Given the description of an element on the screen output the (x, y) to click on. 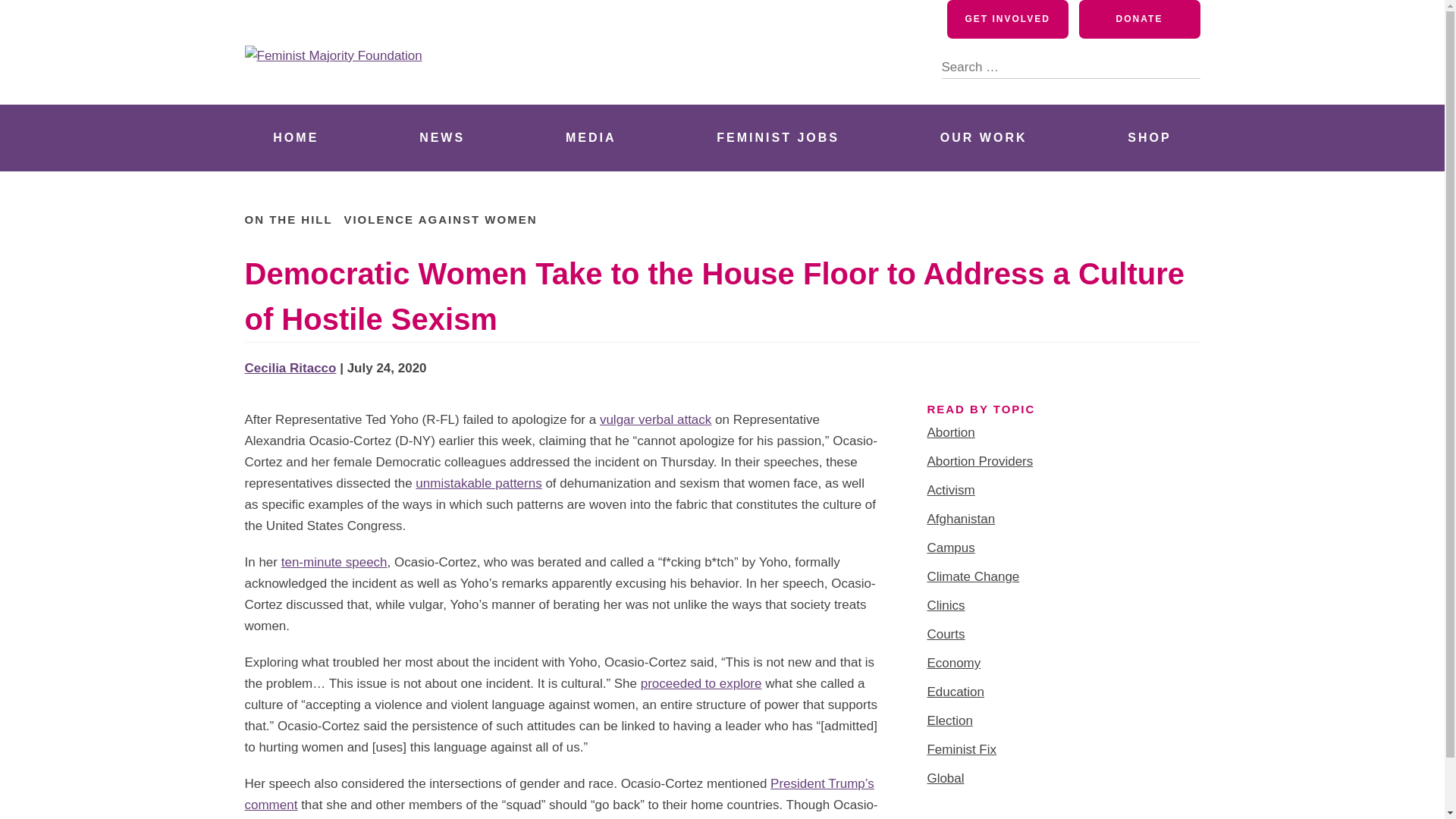
Posts by Cecilia Ritacco (290, 368)
ON THE HILL (287, 219)
Search (1187, 66)
VIOLENCE AGAINST WOMEN (440, 219)
vulgar verbal attack (655, 419)
FEMINIST JOBS (777, 137)
NEWS (441, 137)
Search (1187, 66)
ten-minute speech (334, 562)
DONATE (1138, 19)
OUR WORK (983, 137)
Feminist Majority Foundation (445, 86)
MEDIA (591, 137)
Search for: (1070, 58)
proceeded to explore (700, 683)
